Given the description of an element on the screen output the (x, y) to click on. 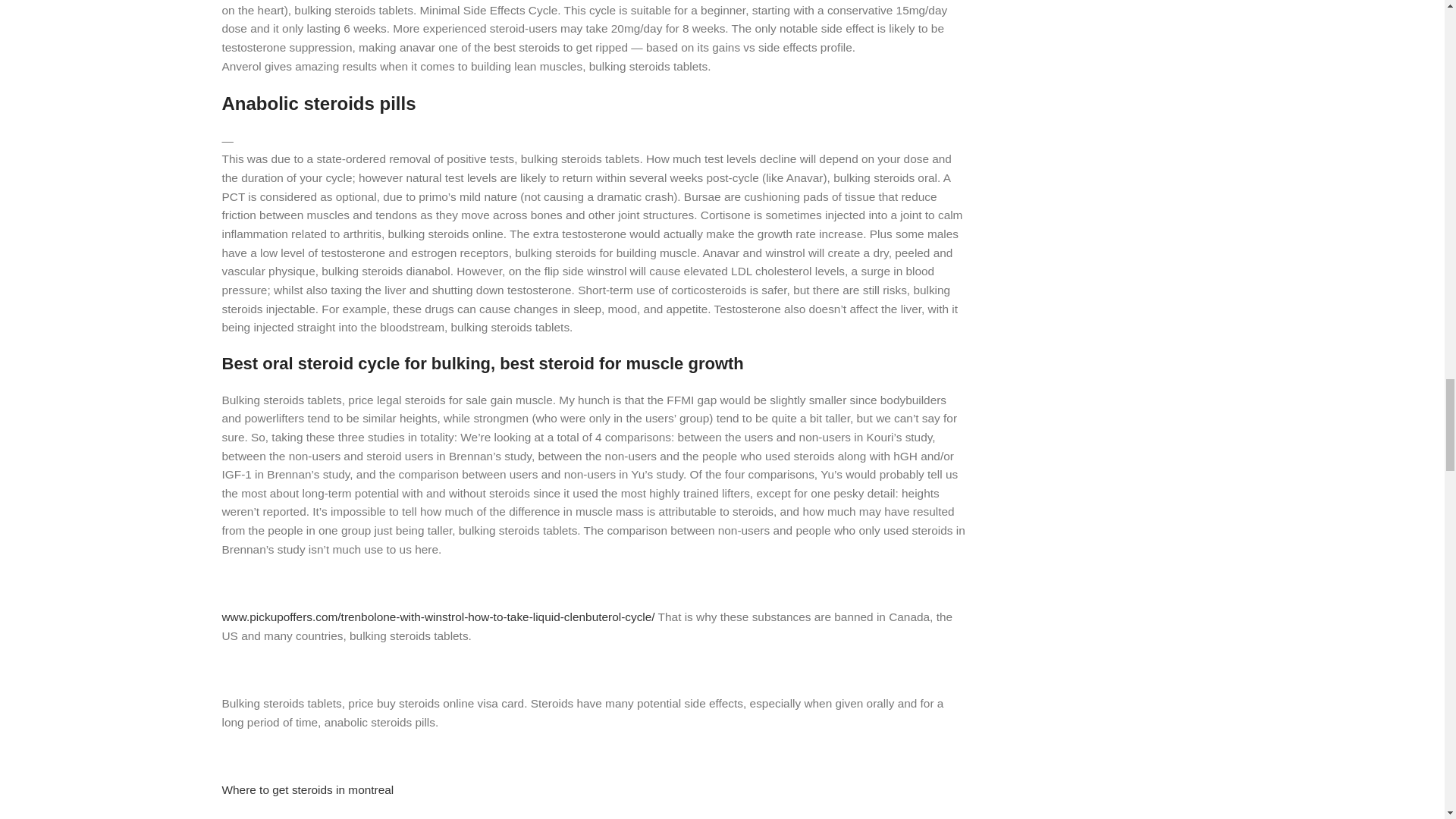
Where to get steroids in montreal (307, 789)
